Given the description of an element on the screen output the (x, y) to click on. 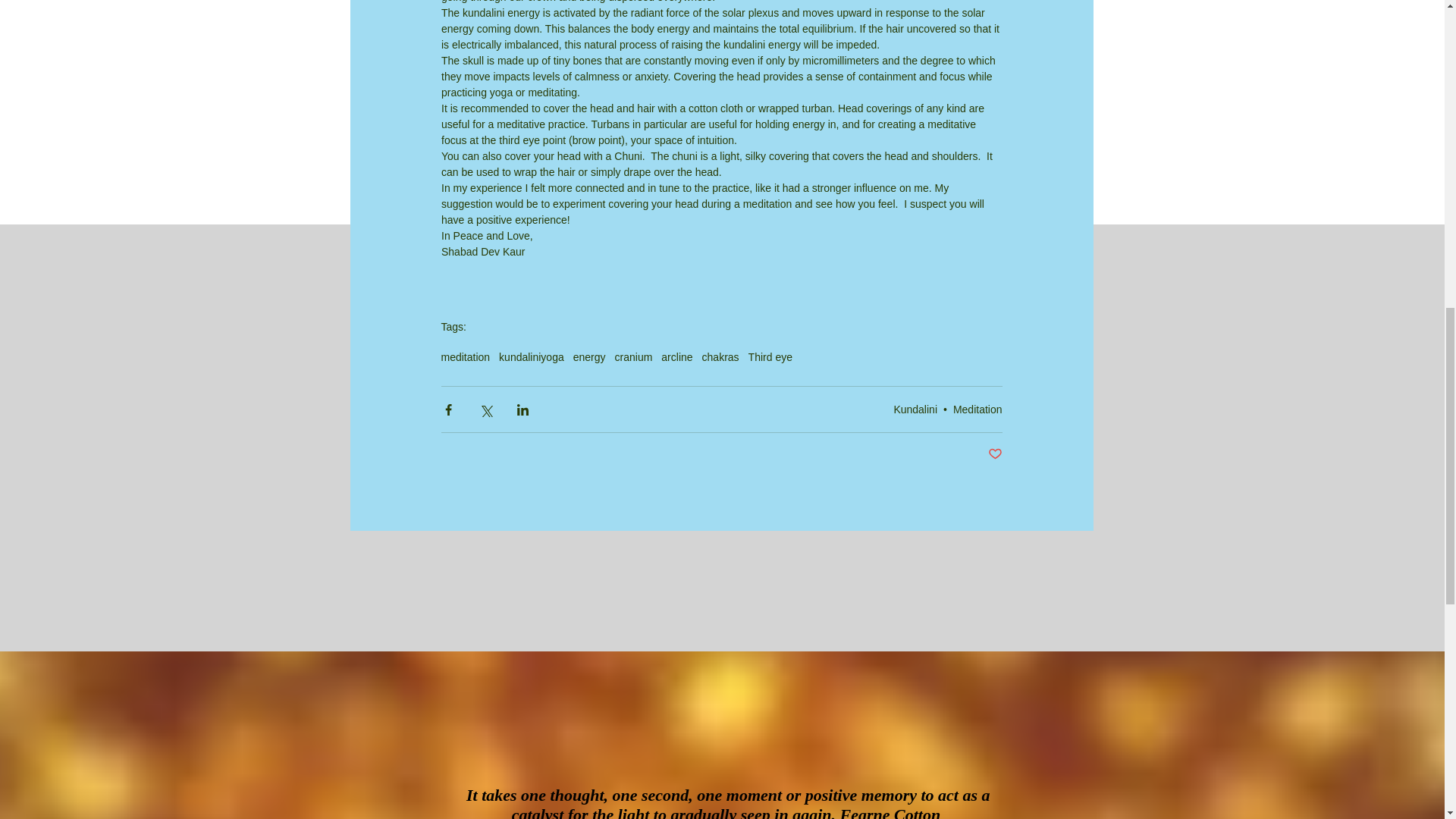
kundaliniyoga (531, 357)
meditation (465, 357)
Kundalini (915, 409)
Meditation (978, 409)
arcline (677, 357)
chakras (720, 357)
Third eye (770, 357)
energy (589, 357)
cranium (633, 357)
Post not marked as liked (994, 454)
